Given the description of an element on the screen output the (x, y) to click on. 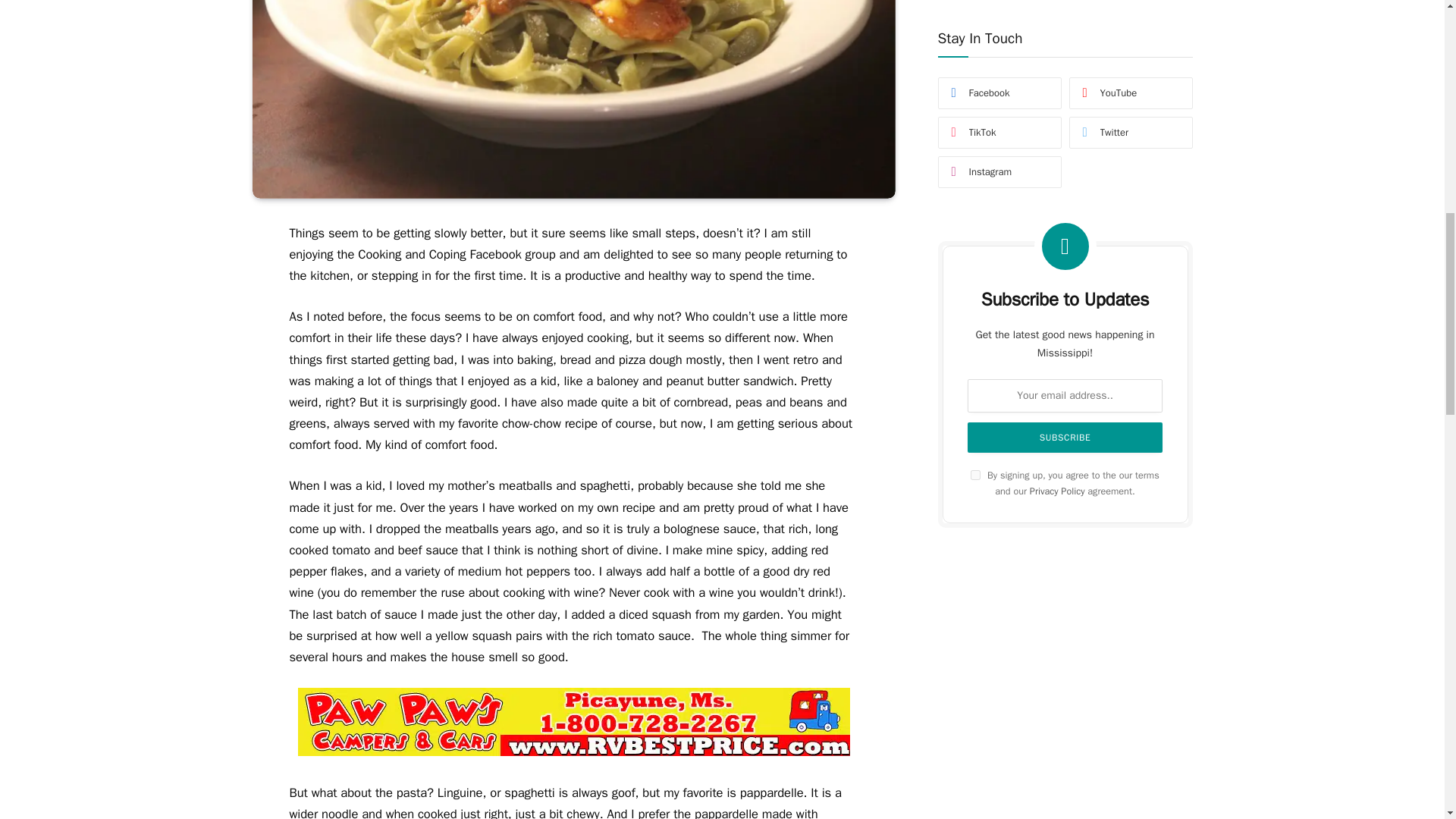
Subscribe (1064, 219)
on (975, 257)
